Given the description of an element on the screen output the (x, y) to click on. 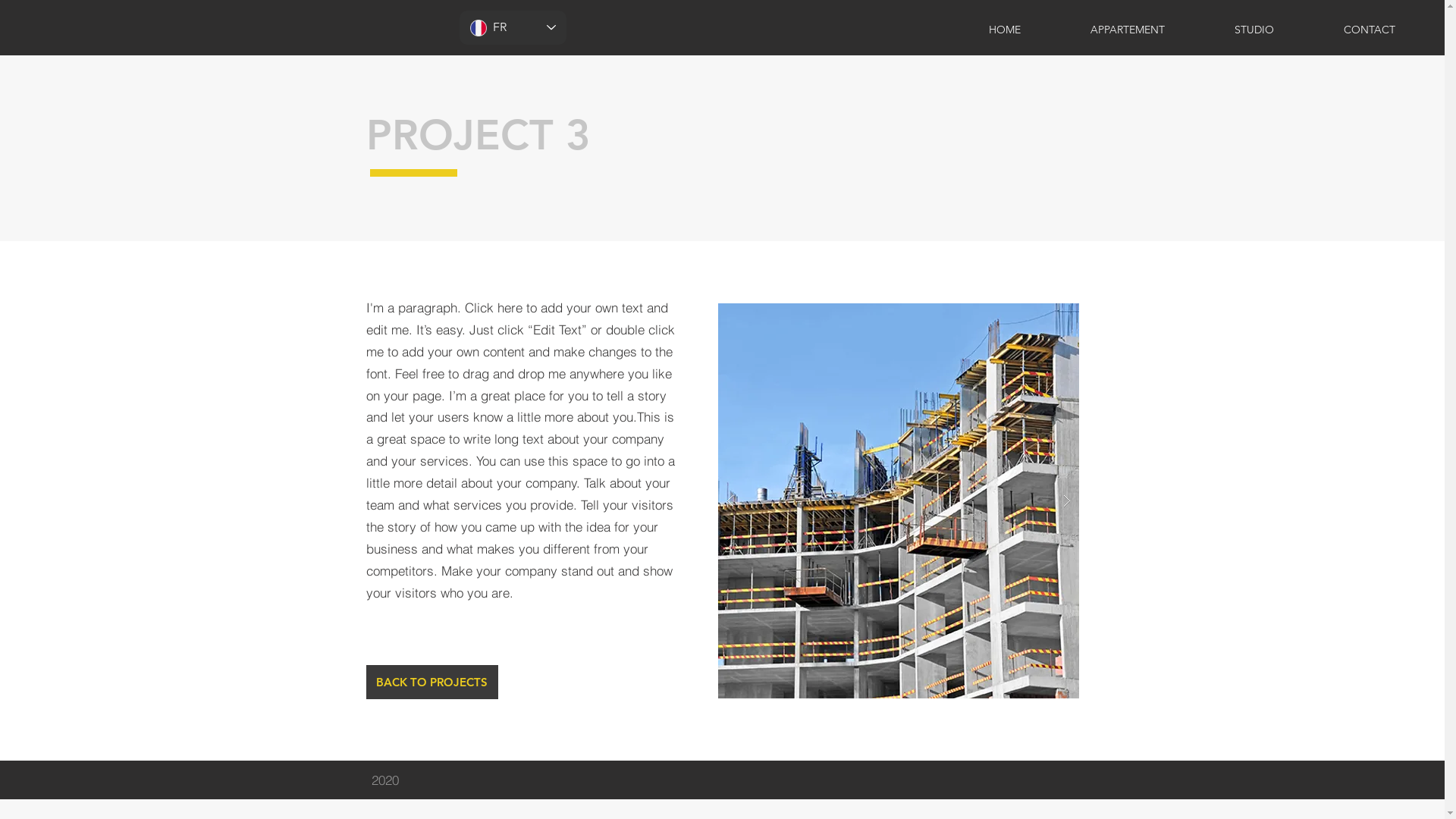
HOME Element type: text (1004, 29)
STUDIO Element type: text (1253, 29)
BACK TO PROJECTS Element type: text (431, 682)
CONTACT Element type: text (1368, 29)
APPARTEMENT Element type: text (1127, 29)
